Given the description of an element on the screen output the (x, y) to click on. 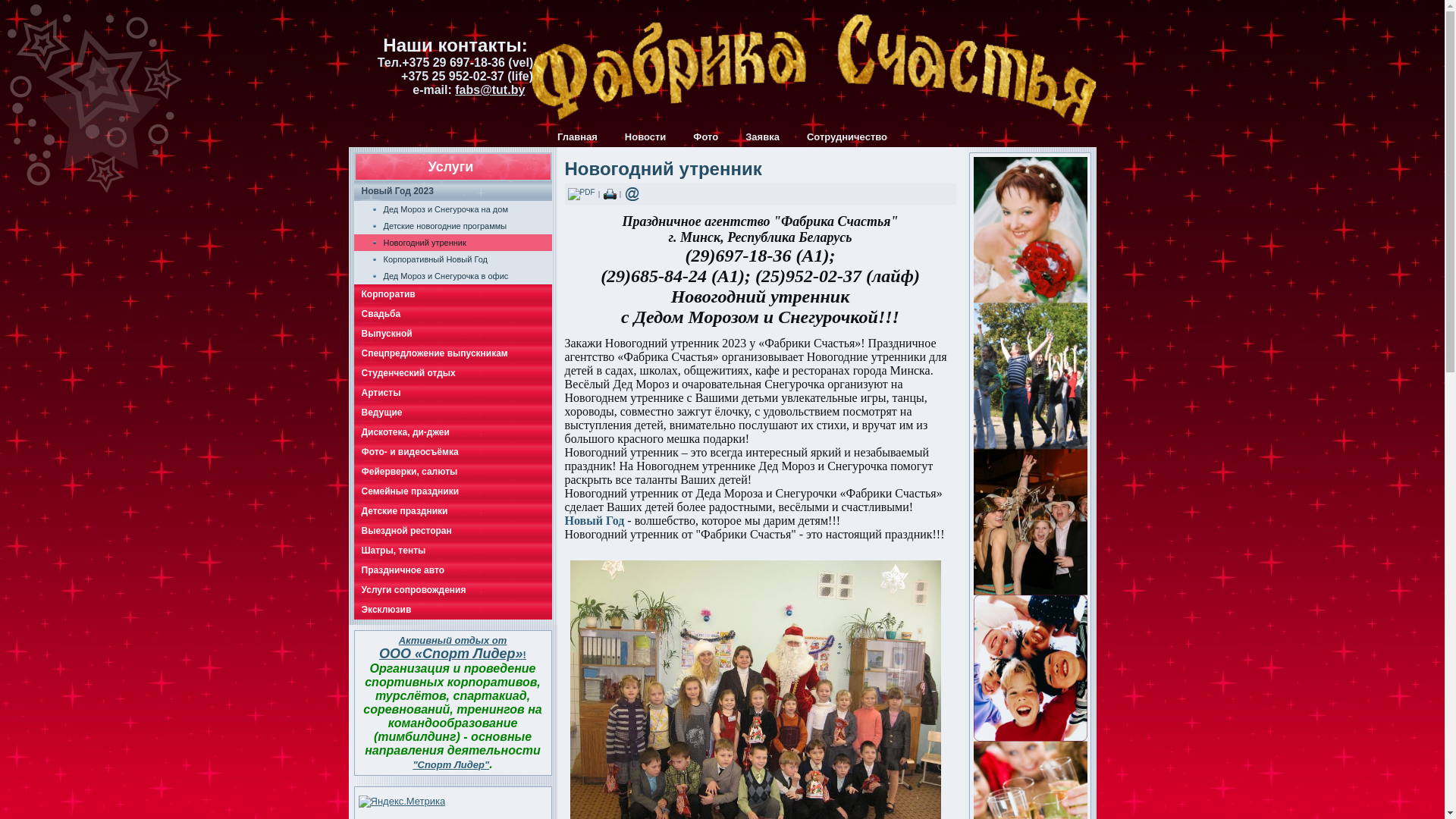
fabs@tut.by Element type: text (489, 89)
PDF Element type: hover (580, 193)
E-mail Element type: hover (632, 193)
